Given the description of an element on the screen output the (x, y) to click on. 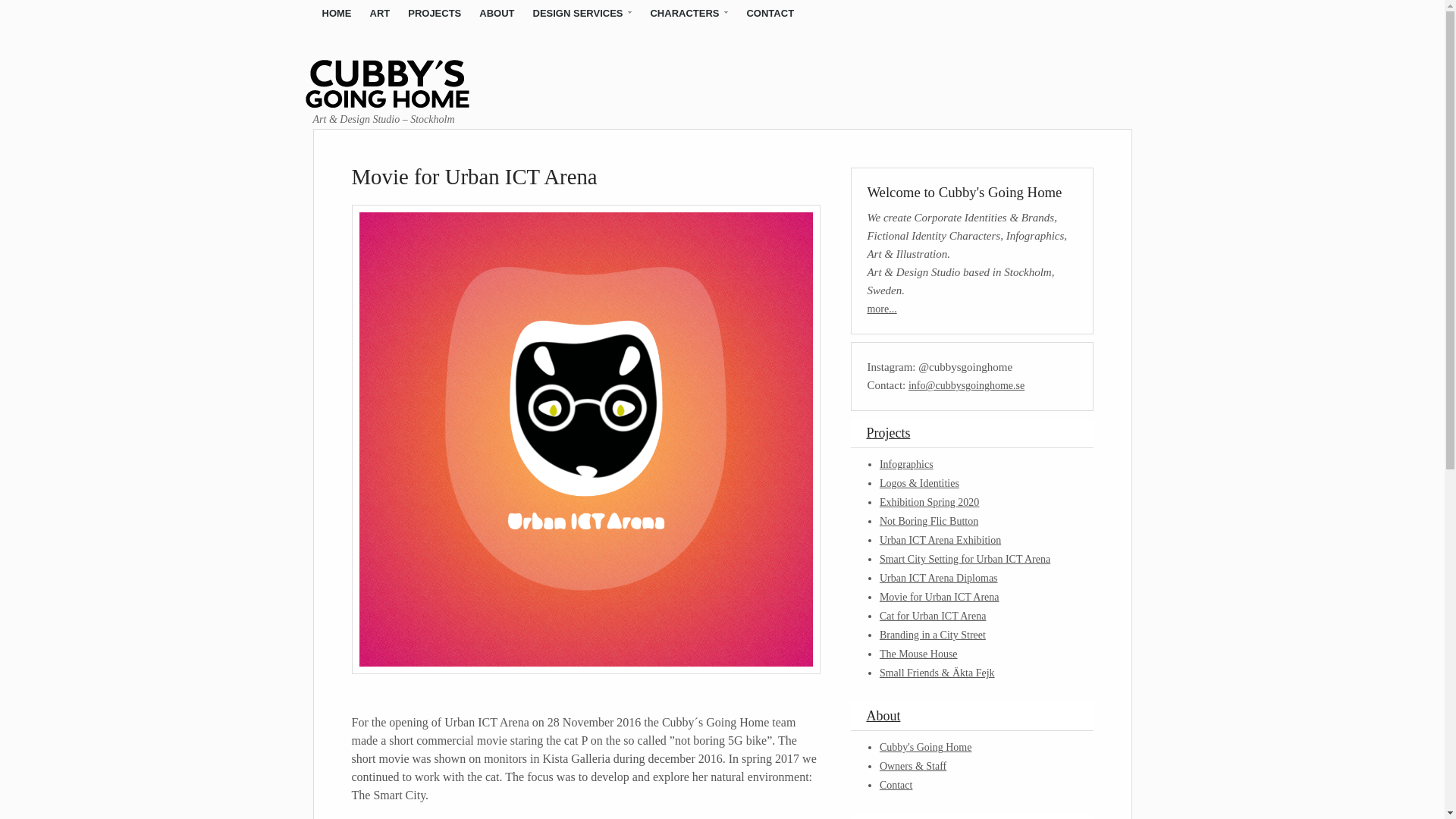
Urban ICT Arena Exhibition (940, 540)
DESIGN SERVICES (583, 13)
PROJECTS (434, 13)
CONTACT (769, 13)
HOME (336, 13)
Cubby's Going Home (406, 101)
Permalink to: Not Boring Flic Button (928, 521)
Permalink to: Smart City Setting for Urban ICT Arena (964, 559)
Smart City Setting for Urban ICT Arena (964, 559)
Urban ICT Arena Diplomas (938, 577)
ABOUT (496, 13)
more... (881, 308)
Cat for Urban ICT Arena (932, 615)
Permalink to: Urban ICT Arena Exhibition (940, 540)
Permalink to: Urban ICT Arena Diplomas (938, 577)
